Given the description of an element on the screen output the (x, y) to click on. 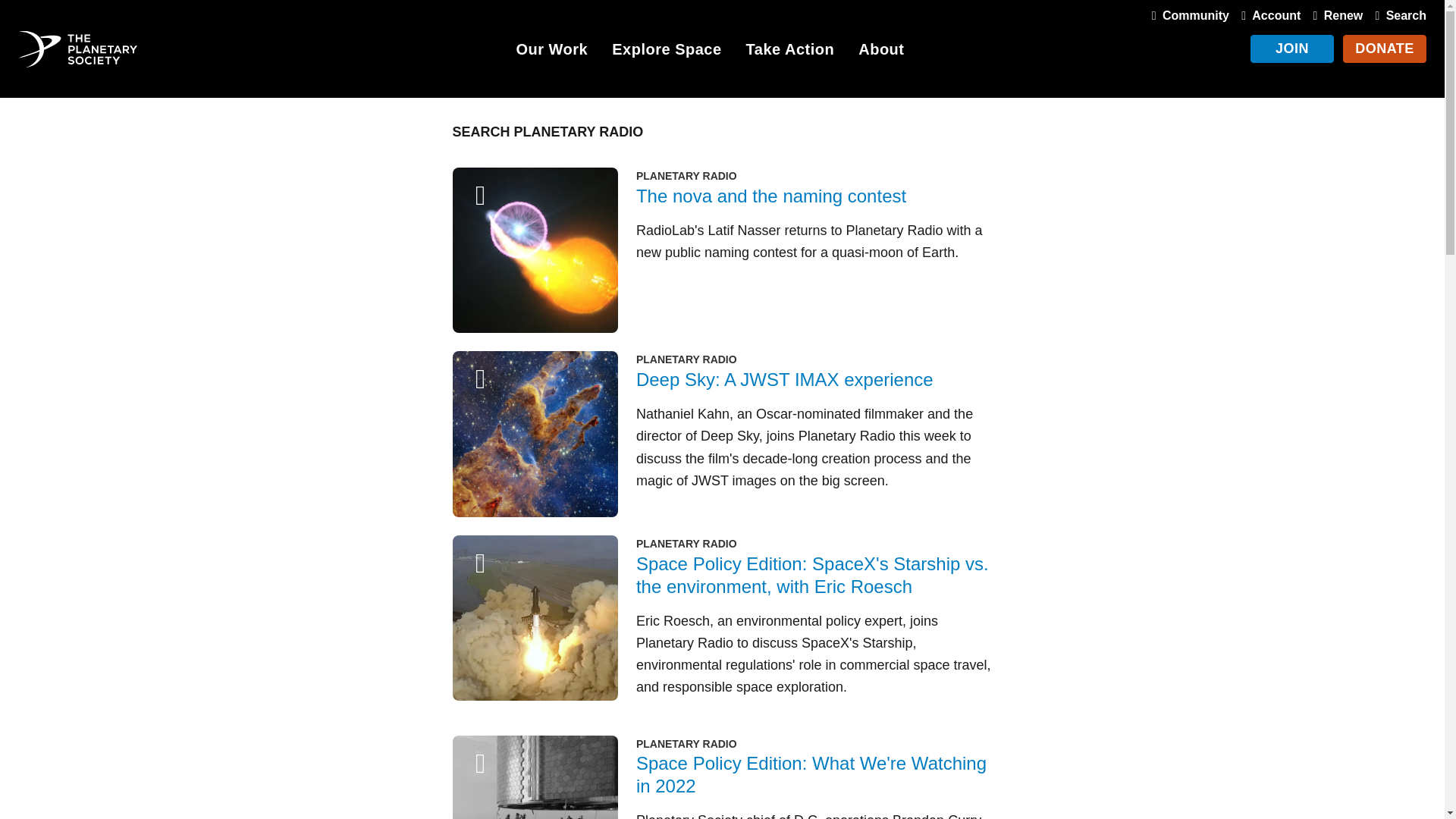
About (881, 51)
JOIN (1291, 49)
Search (1397, 15)
Community (1186, 15)
Take Action (789, 51)
DONATE (1384, 49)
Renew (1334, 15)
Our Work (551, 51)
Explore Space (665, 51)
Account (1267, 15)
